Given the description of an element on the screen output the (x, y) to click on. 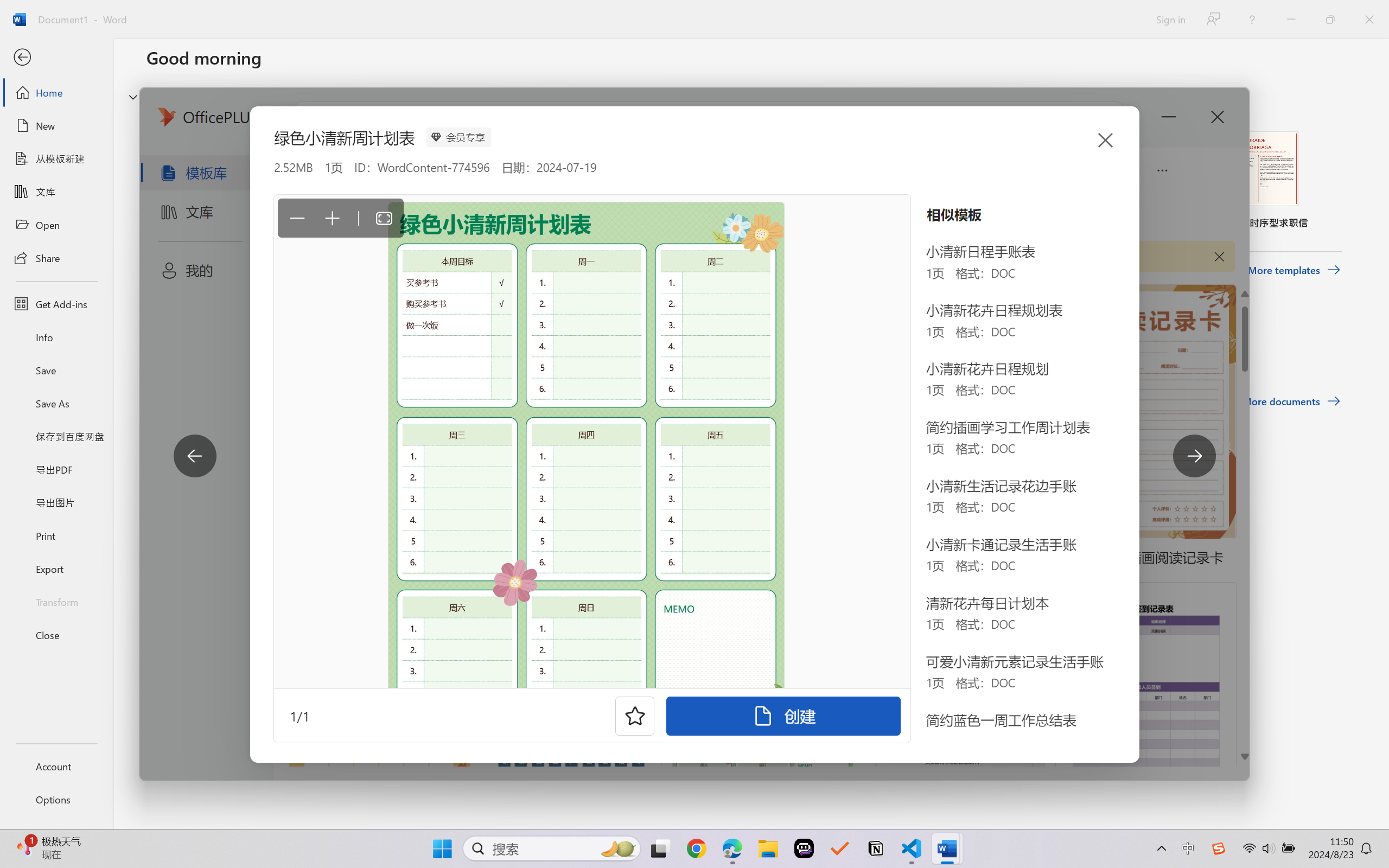
Sign in (1170, 18)
